Given the description of an element on the screen output the (x, y) to click on. 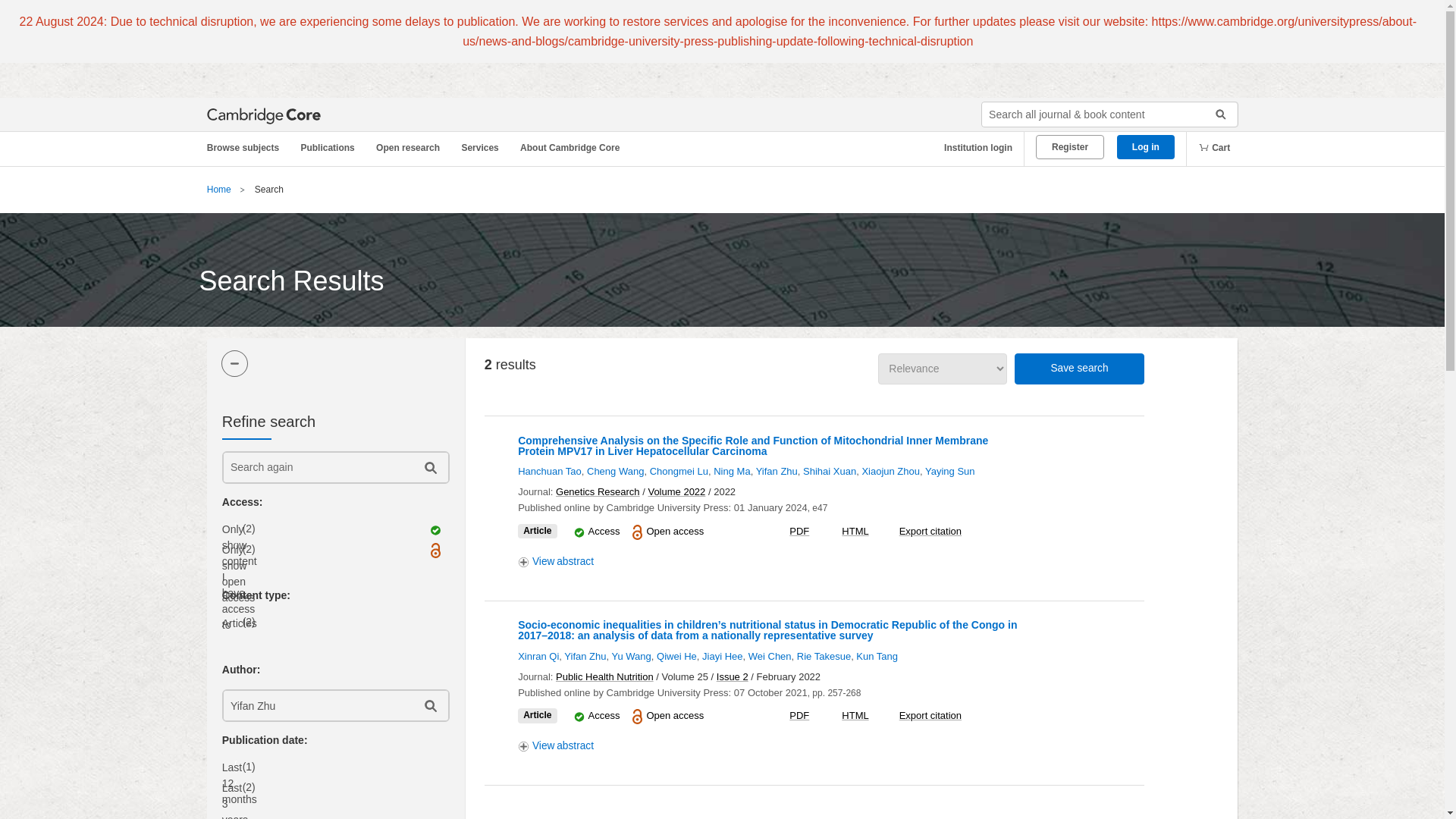
Browse subjects (250, 147)
Submit search (1214, 114)
Submit author search (429, 705)
You have access to this product (604, 531)
You have access to this product (604, 715)
Submit search (1214, 114)
Submit refine search (429, 467)
Yifan Zhu (316, 705)
Publications (330, 147)
You have access to this product (579, 531)
